Given the description of an element on the screen output the (x, y) to click on. 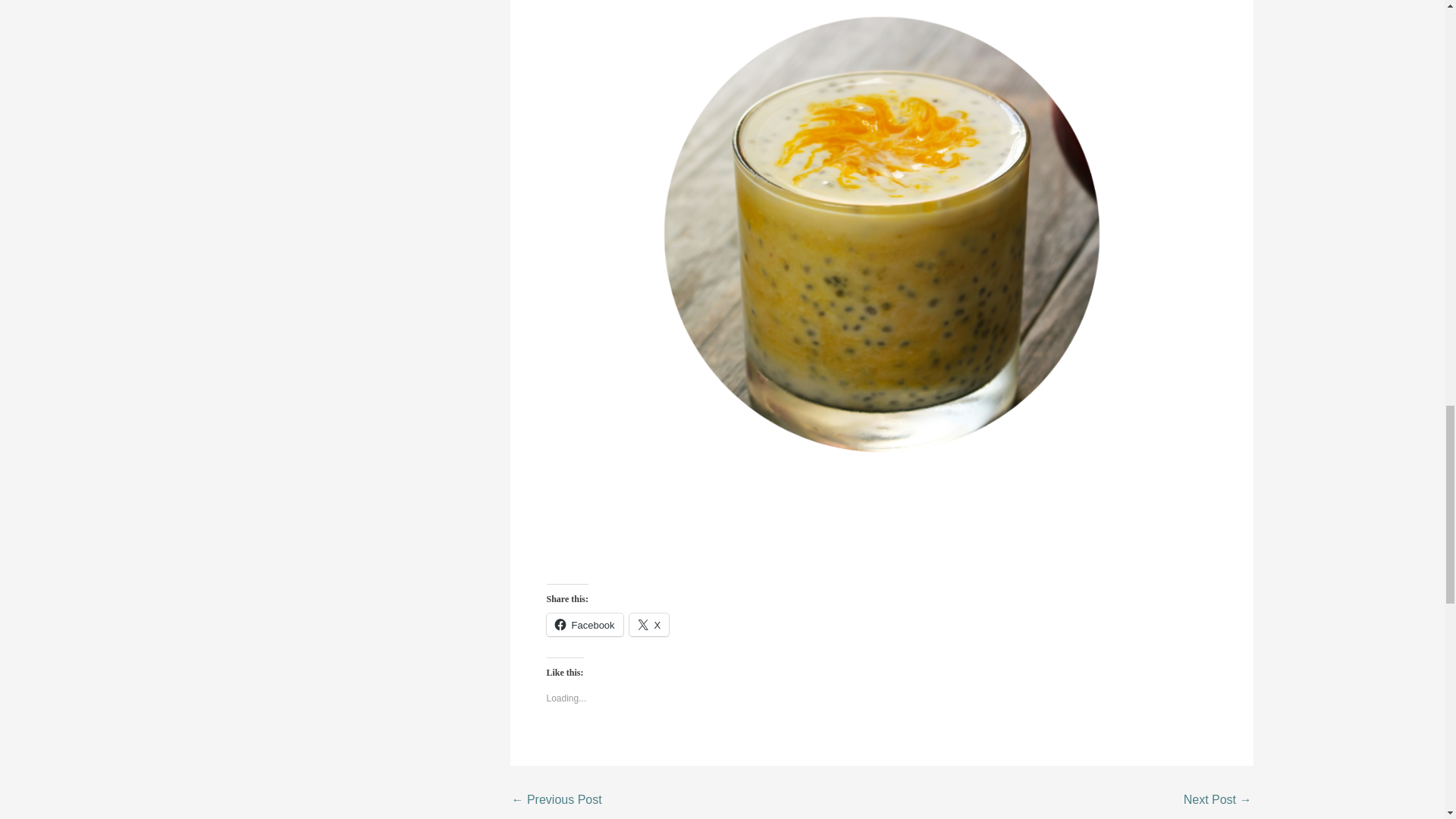
Click to share on X (648, 624)
Click to share on Facebook (584, 624)
Facebook (584, 624)
6 Underrated Spices with Amazing Health Benefits (1217, 799)
X (648, 624)
Baked Chocolate Cardamom Oats (556, 799)
